Given the description of an element on the screen output the (x, y) to click on. 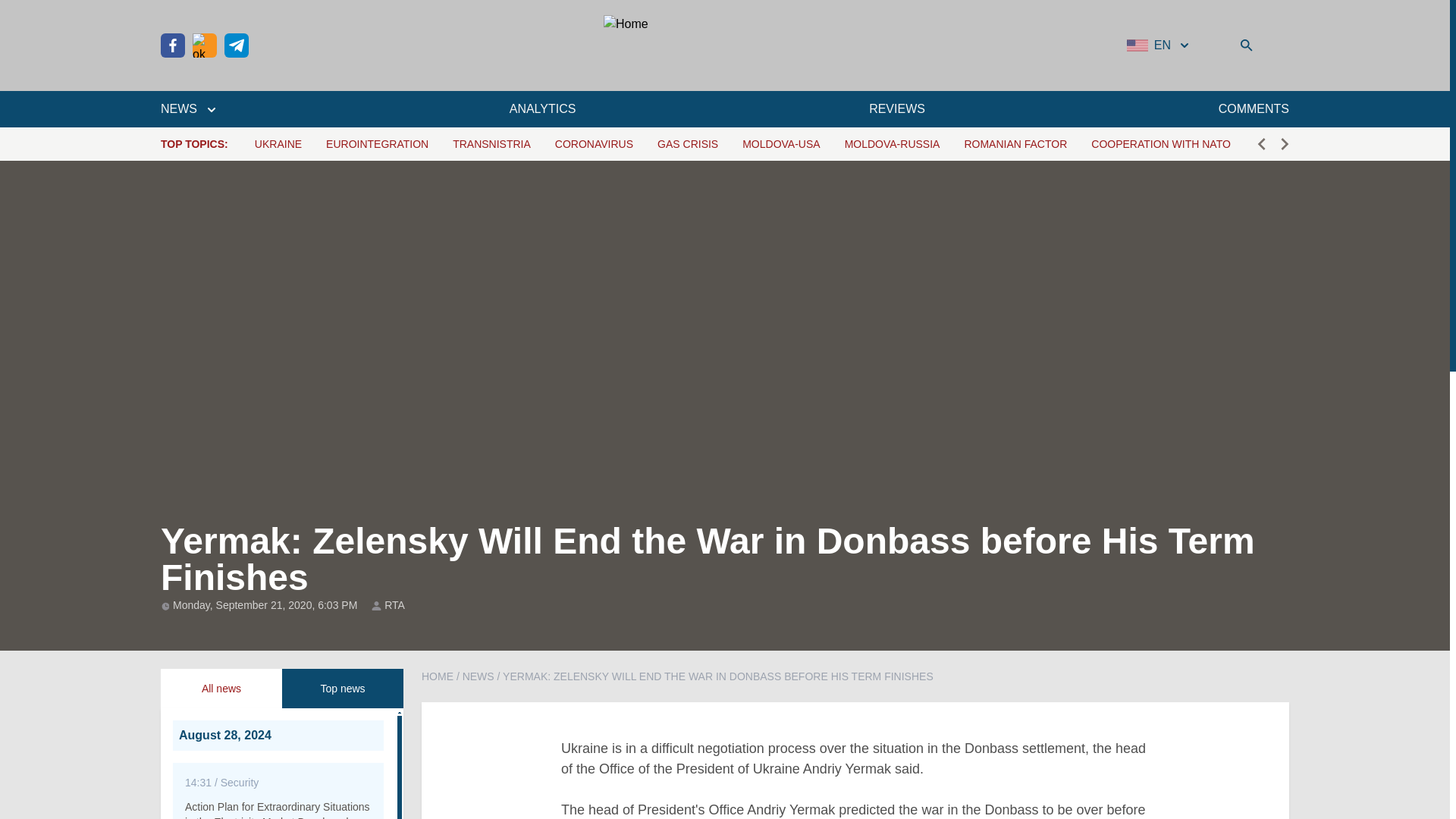
NEWS (187, 108)
TRANSNISTRIA (491, 143)
COOPERATION WITH NATO (1160, 143)
COMMENTS (1253, 108)
REVIEWS (896, 108)
Monday, September 21, 2020, 6:03 PM (266, 604)
EN (1159, 45)
Top news (342, 688)
MOLDOVA-RUSSIA (892, 143)
